Given the description of an element on the screen output the (x, y) to click on. 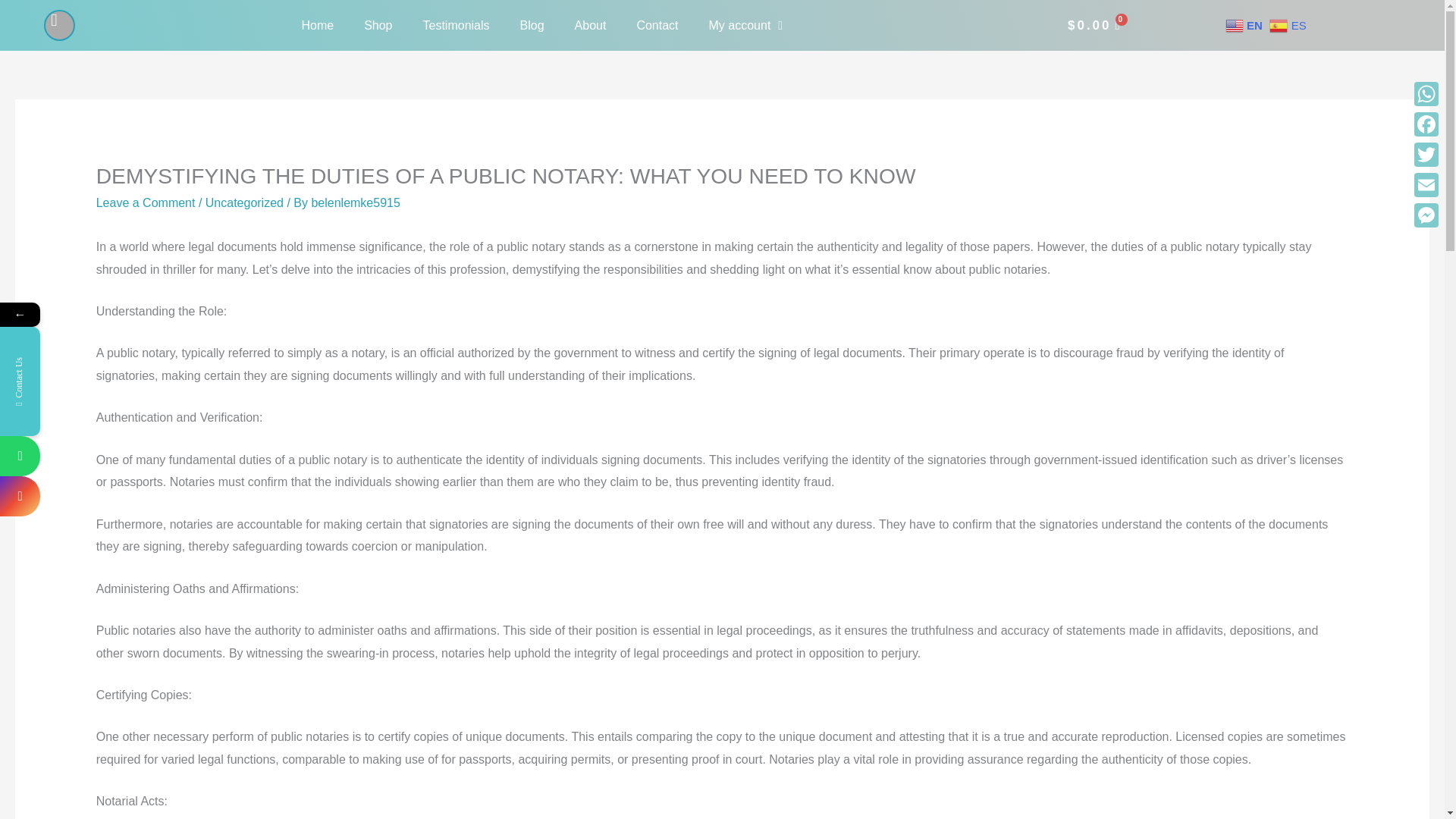
belenlemke5915 (354, 202)
Twitter (1425, 154)
WhatsApp (1425, 93)
View all posts by belenlemke5915 (354, 202)
About (590, 24)
Messenger (1425, 214)
Email (1425, 184)
Blog (532, 24)
Facebook (1425, 123)
Testimonials (456, 24)
